Given the description of an element on the screen output the (x, y) to click on. 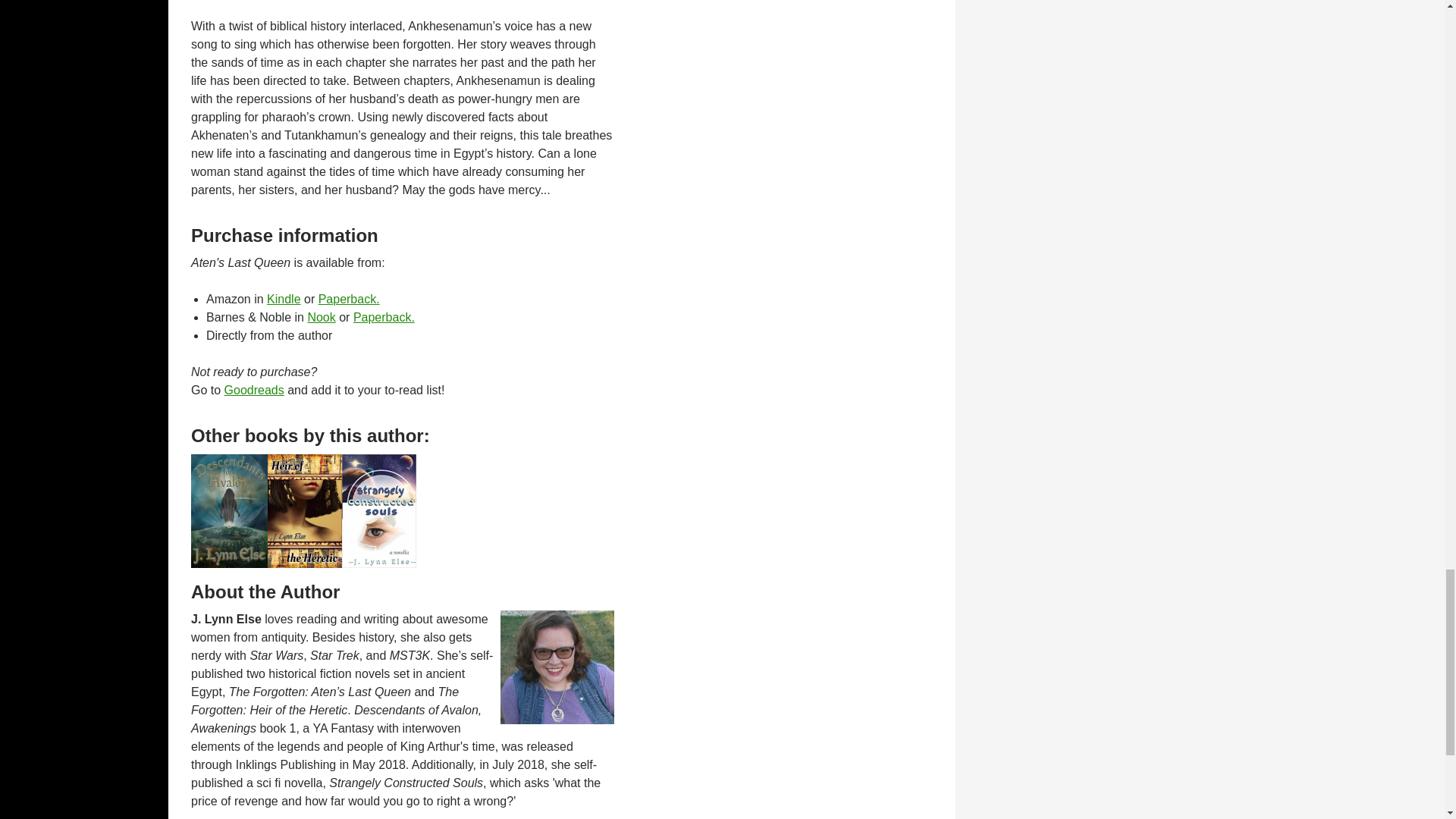
Nook (320, 317)
Goodreads (253, 390)
Paperback. (383, 317)
Paperback. (349, 298)
Kindle (282, 298)
